Given the description of an element on the screen output the (x, y) to click on. 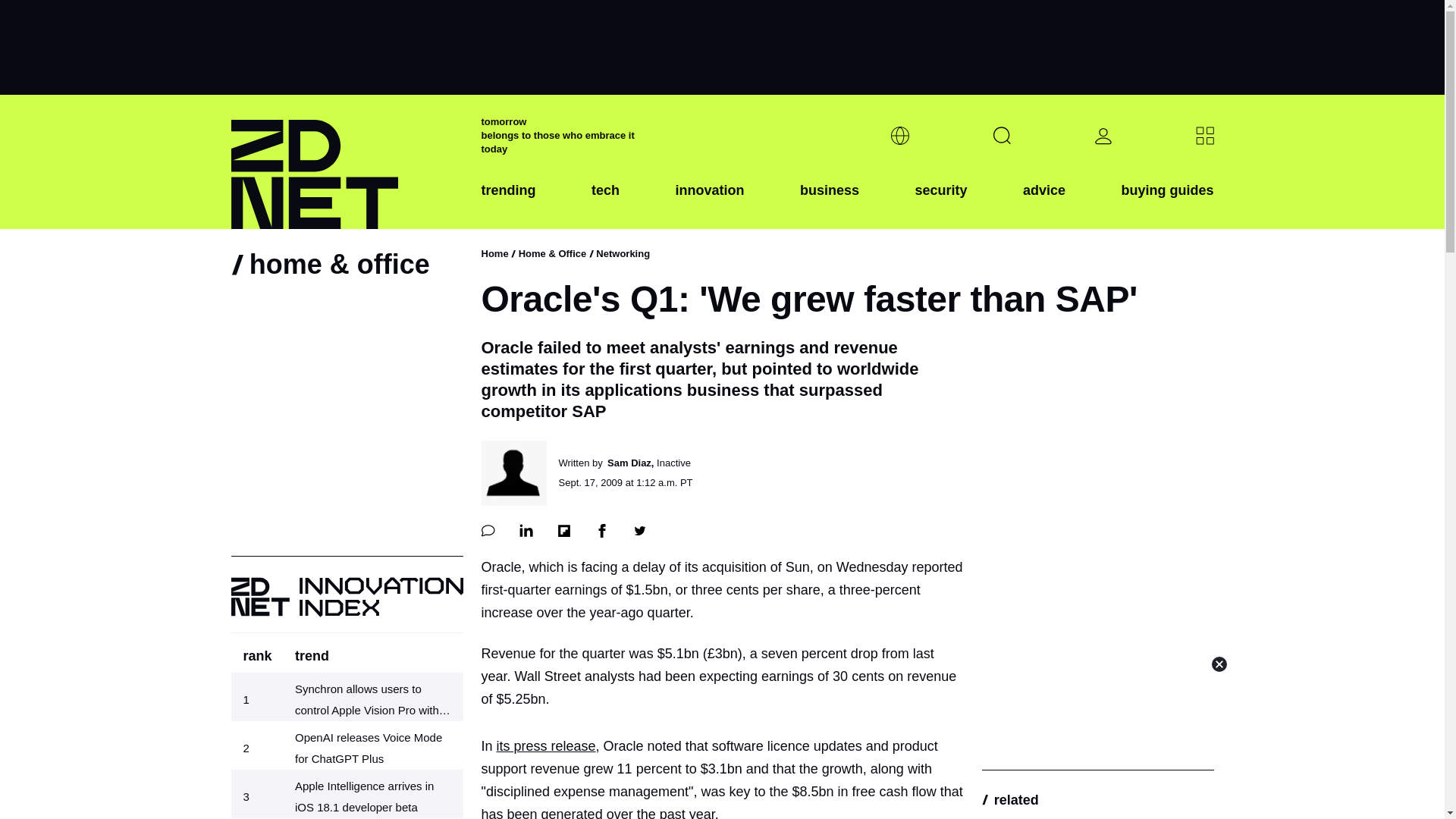
ZDNET (346, 162)
trending (507, 202)
